Given the description of an element on the screen output the (x, y) to click on. 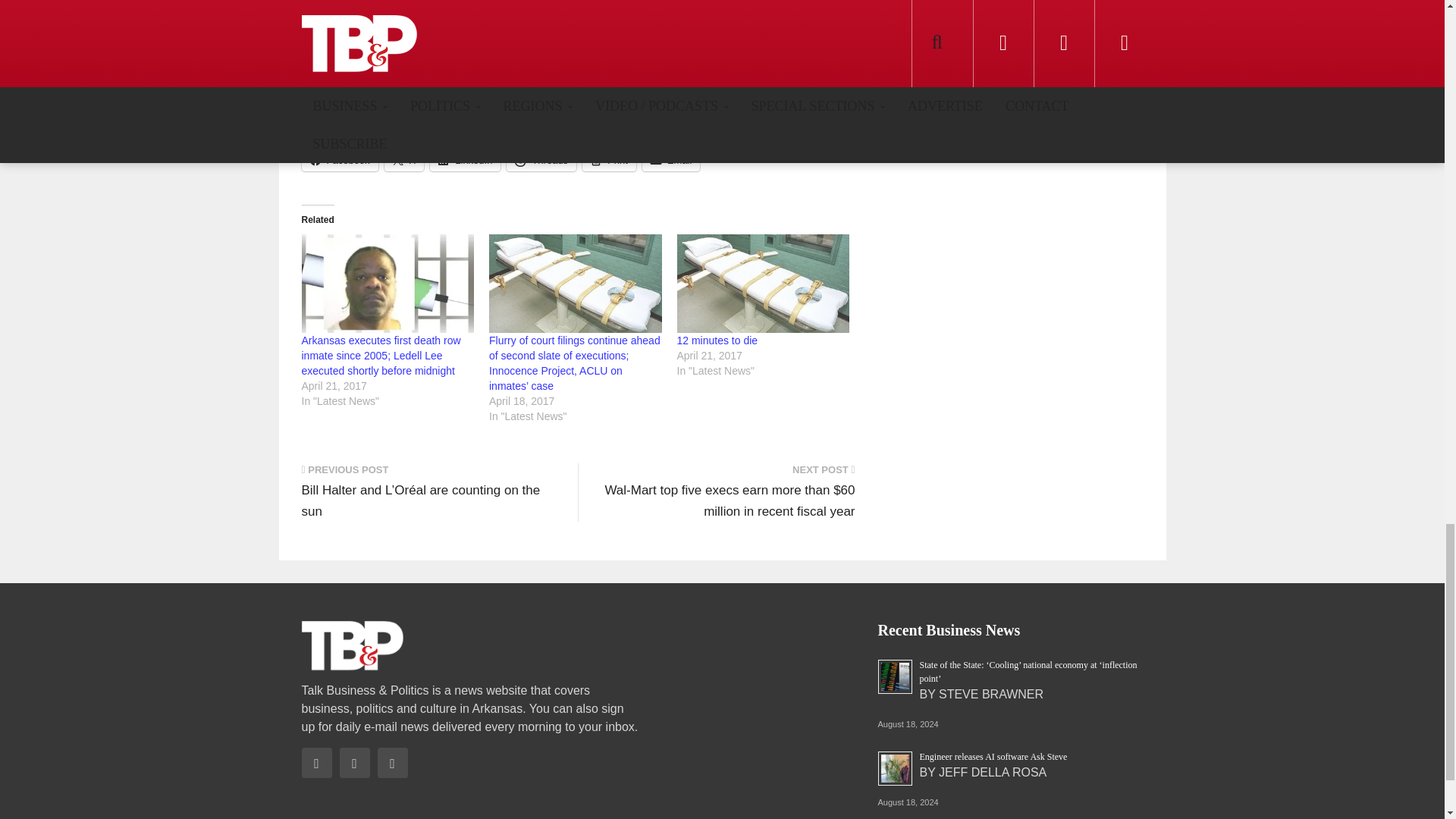
Click to print (609, 159)
Click to share on Facebook (339, 159)
Click to share on Threads (541, 159)
Click to share on X (404, 159)
Click to share on LinkedIn (464, 159)
